Given the description of an element on the screen output the (x, y) to click on. 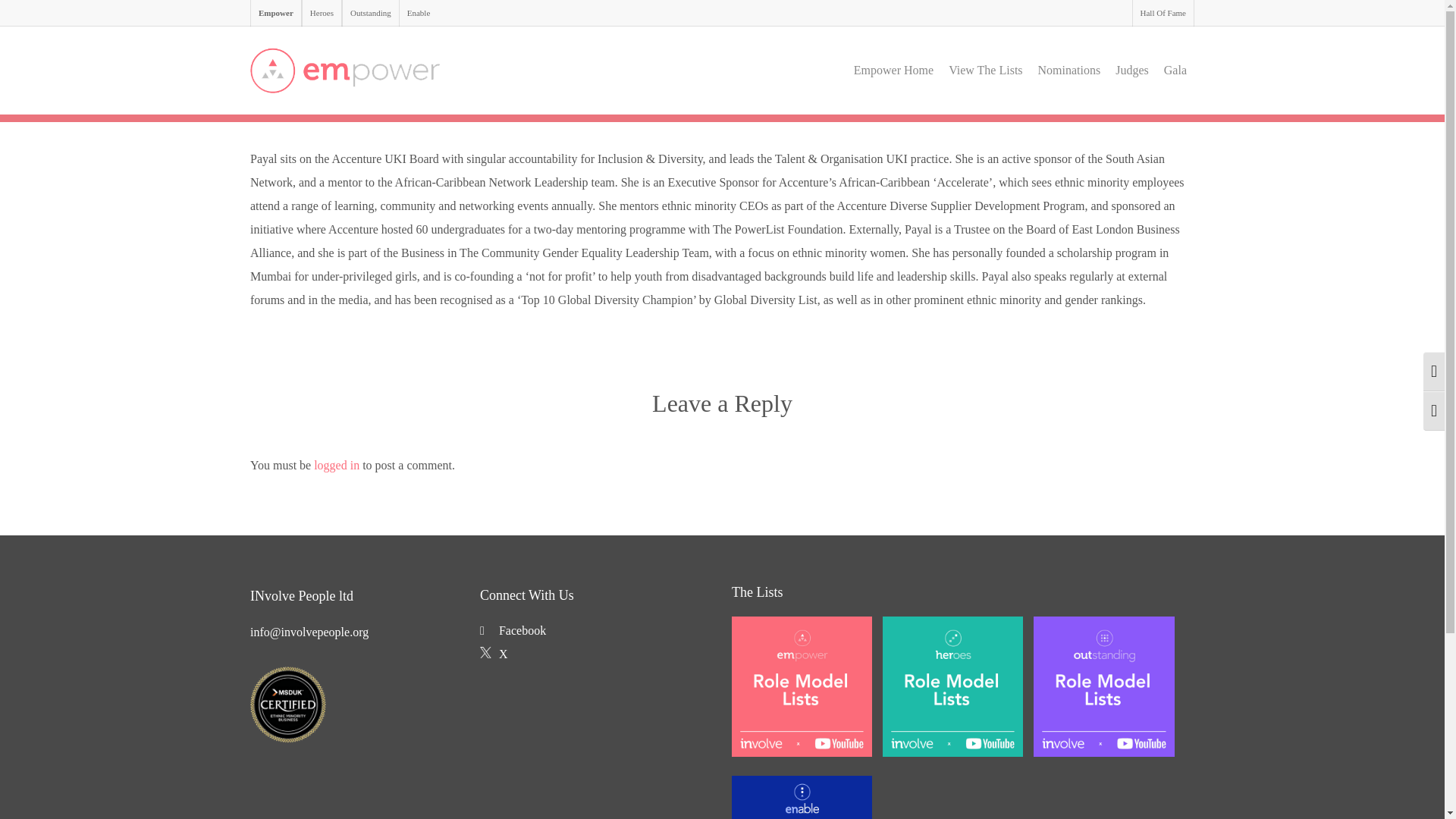
Nominations (1069, 70)
Outstanding (370, 13)
Hall Of Fame (1162, 13)
logged in (336, 464)
View The Lists (984, 70)
Enable (418, 13)
Empower Home (892, 70)
Empower (275, 13)
Heroes (321, 13)
X (494, 653)
